Given the description of an element on the screen output the (x, y) to click on. 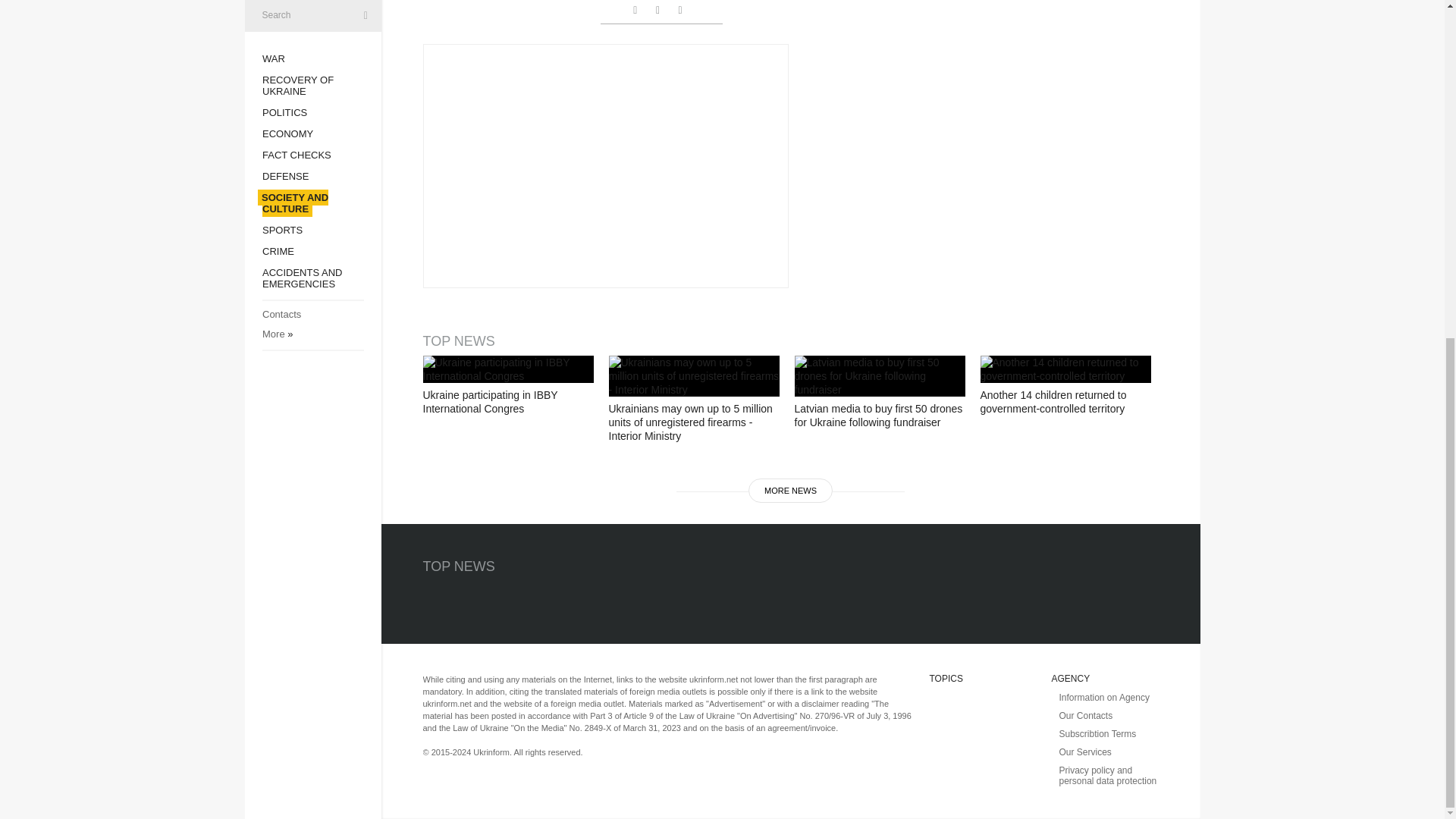
Ukraine participating in IBBY International Congres (508, 369)
